Given the description of an element on the screen output the (x, y) to click on. 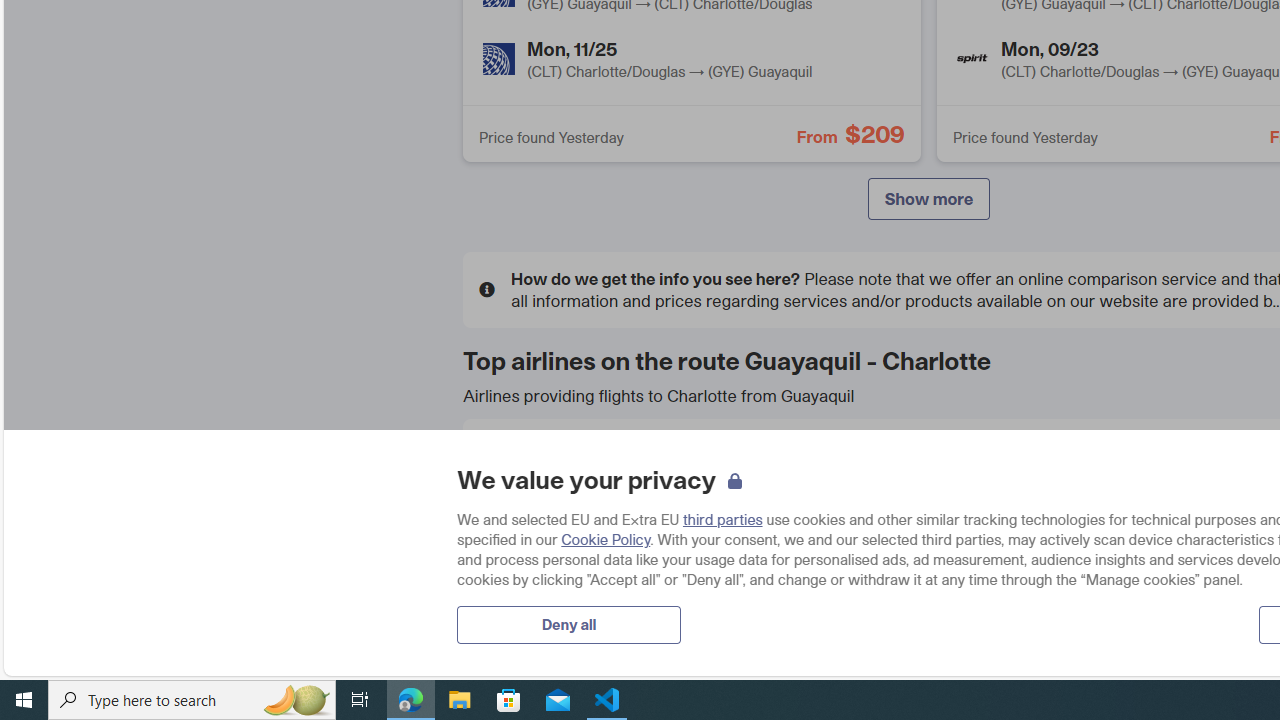
Terms and Conditions (885, 377)
Copa Airlines (1115, 466)
Deny all (568, 624)
American Airlines American Airlines (626, 467)
United (511, 610)
Cookie Policy (605, 539)
LATAM LATAM (928, 539)
DELTA DELTA (626, 539)
American Airlines (511, 466)
Show more (928, 198)
Spirit Airlines (1115, 538)
third parties (722, 519)
Avianca (813, 466)
LATAM (813, 538)
